Given the description of an element on the screen output the (x, y) to click on. 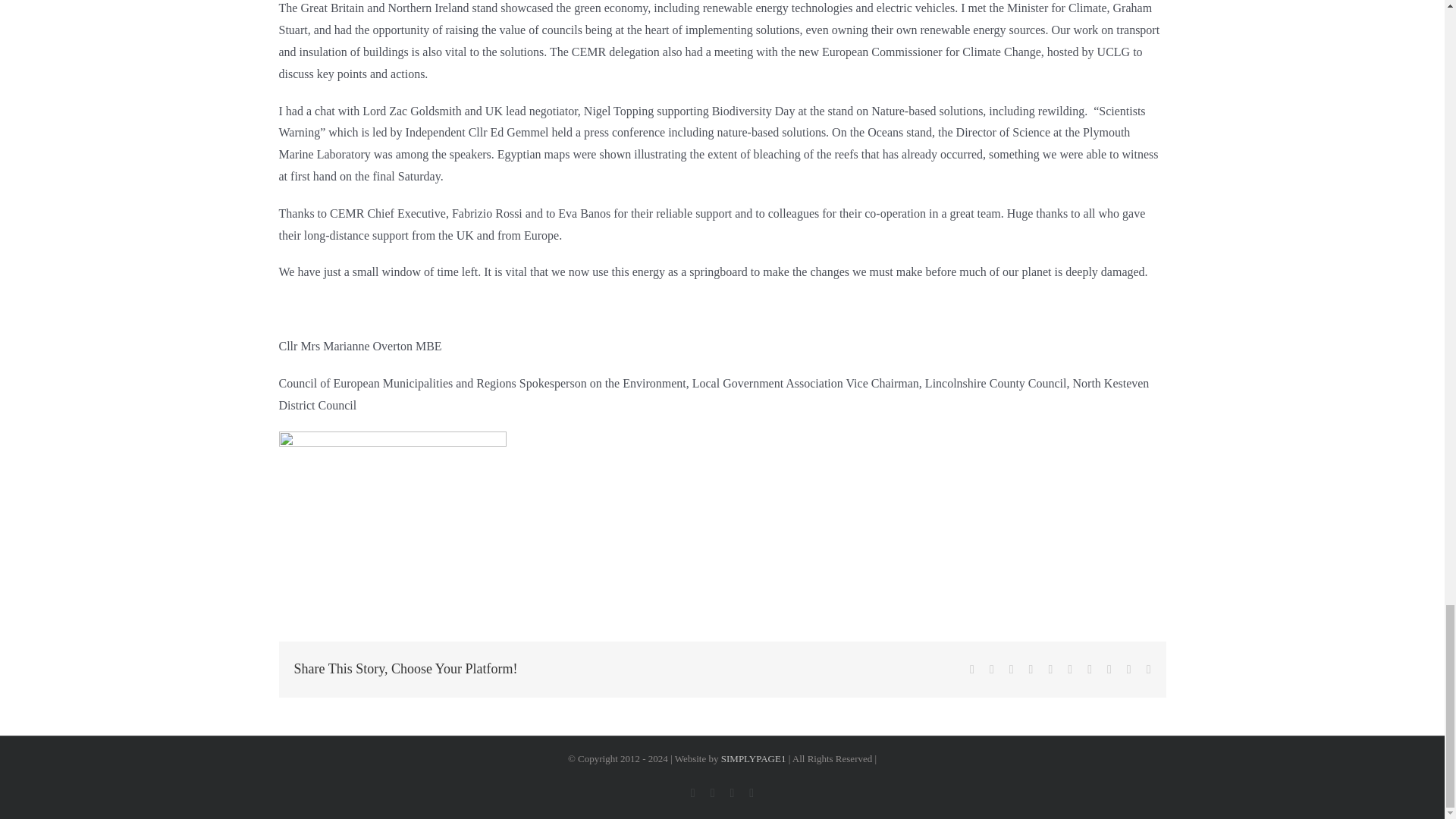
SIMPLYPAGE1 (753, 758)
